Given the description of an element on the screen output the (x, y) to click on. 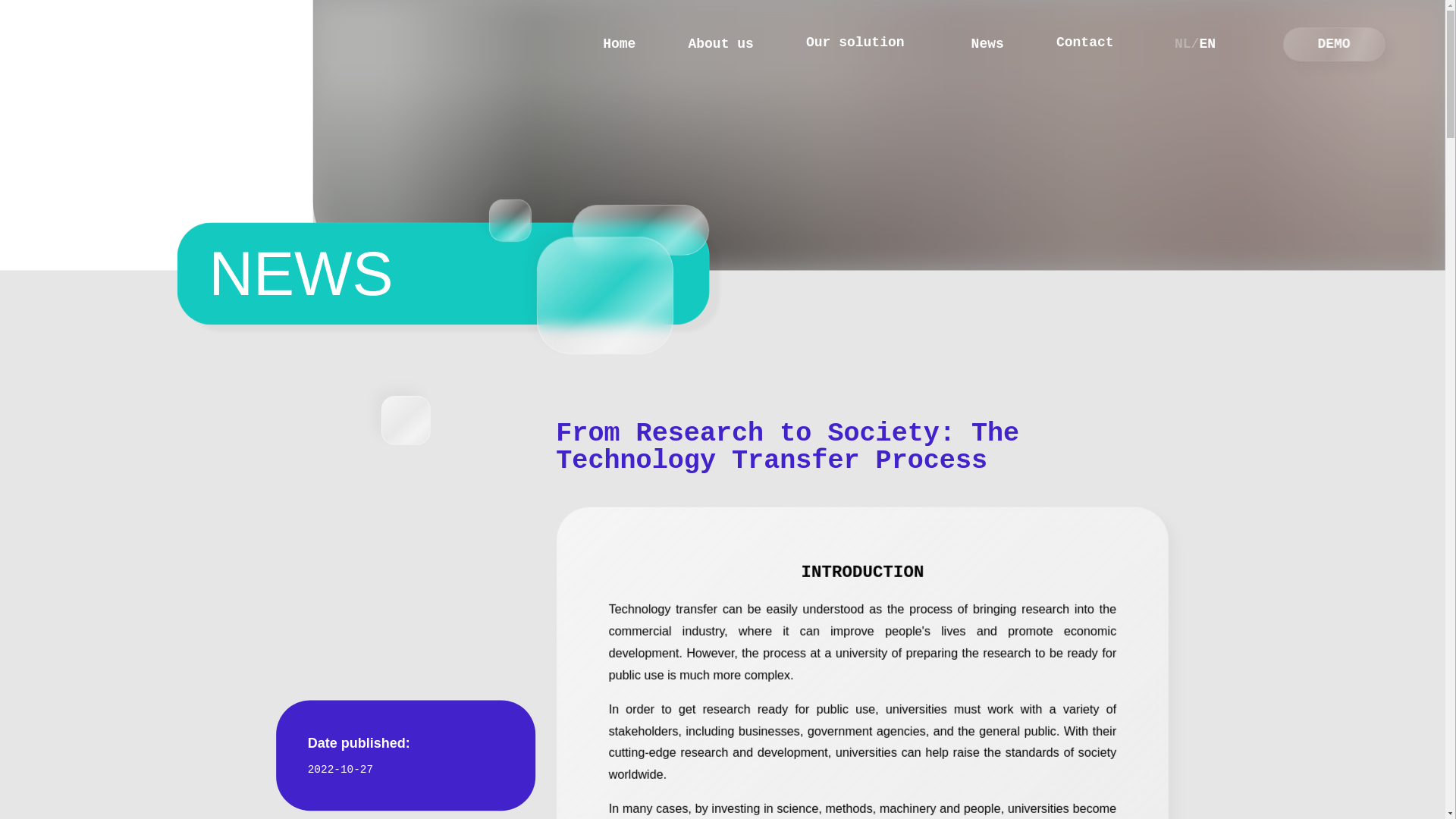
Home (868, 45)
DEMO (620, 45)
DEMO (1339, 46)
About us (1330, 46)
News (724, 45)
